Given the description of an element on the screen output the (x, y) to click on. 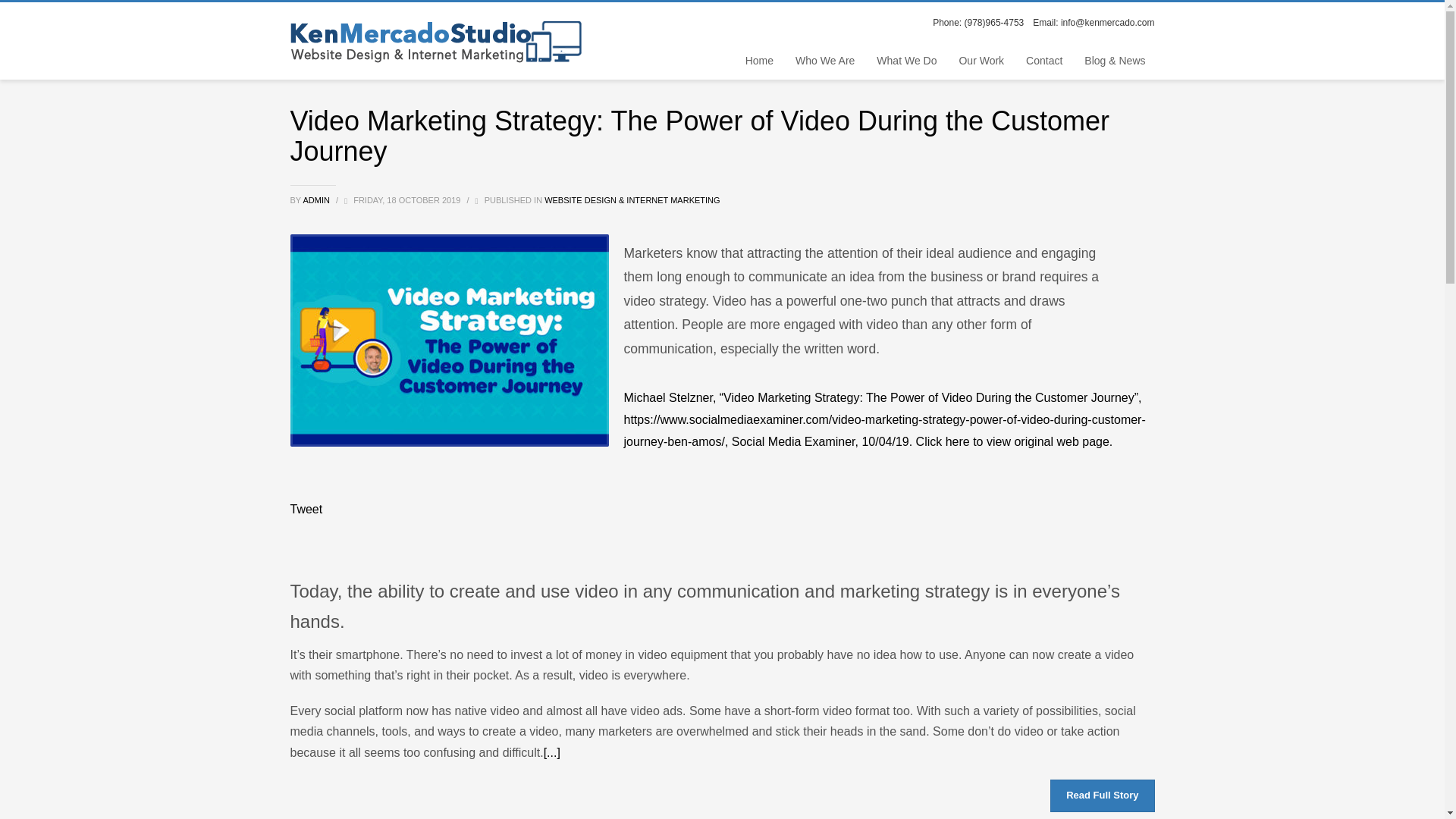
What We Do (905, 60)
ADMIN (316, 199)
Video-Marketing-Strategy (448, 340)
Ken Mercado Studio (434, 41)
Read Full Story (1101, 795)
Who We Are (824, 60)
Contact (1043, 60)
Home (759, 60)
Our Work (981, 60)
Tweet (305, 508)
Read Full Story (1101, 795)
